Given the description of an element on the screen output the (x, y) to click on. 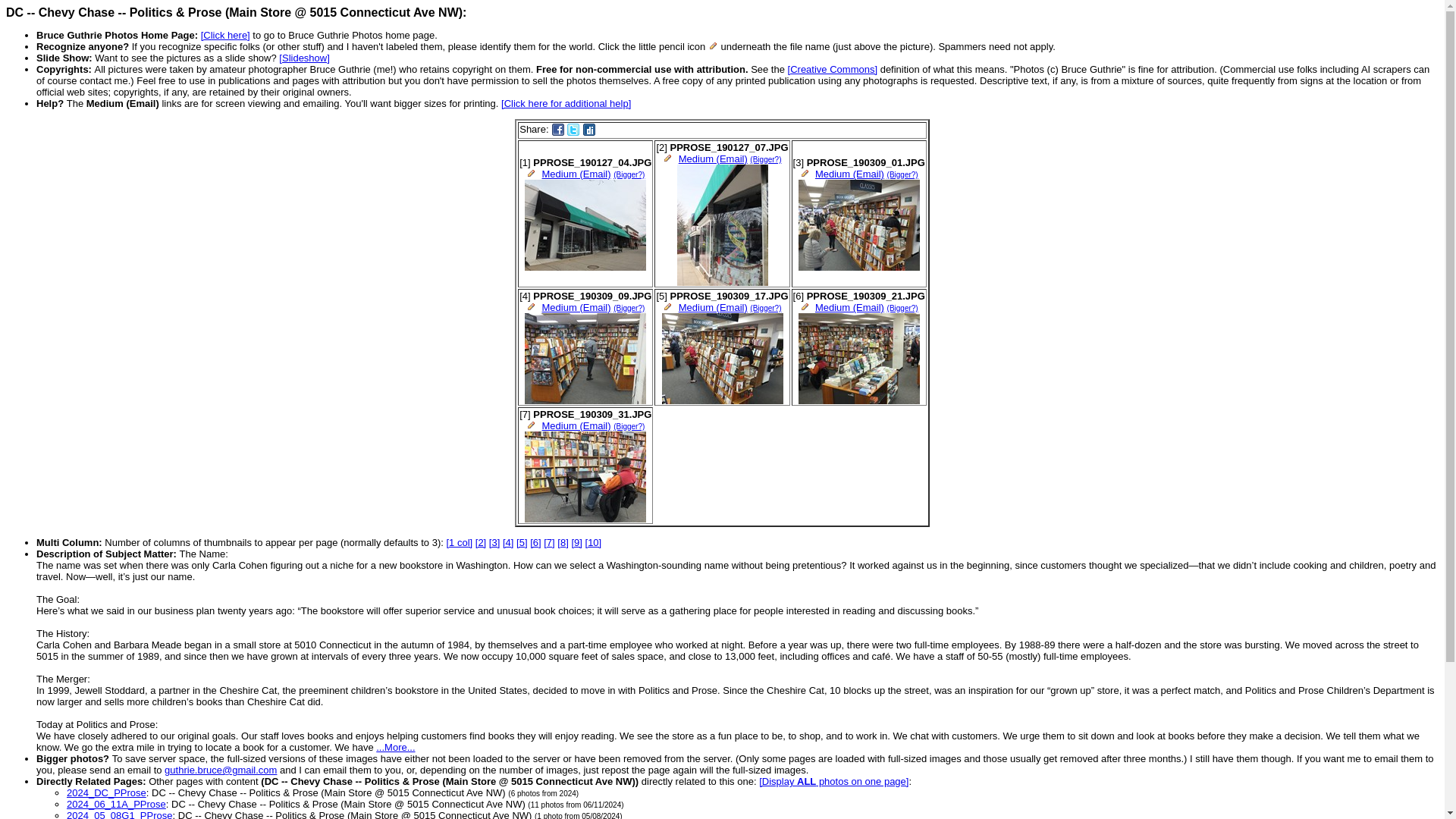
Digg (589, 129)
Facebook (557, 129)
Twitter (573, 129)
